Given the description of an element on the screen output the (x, y) to click on. 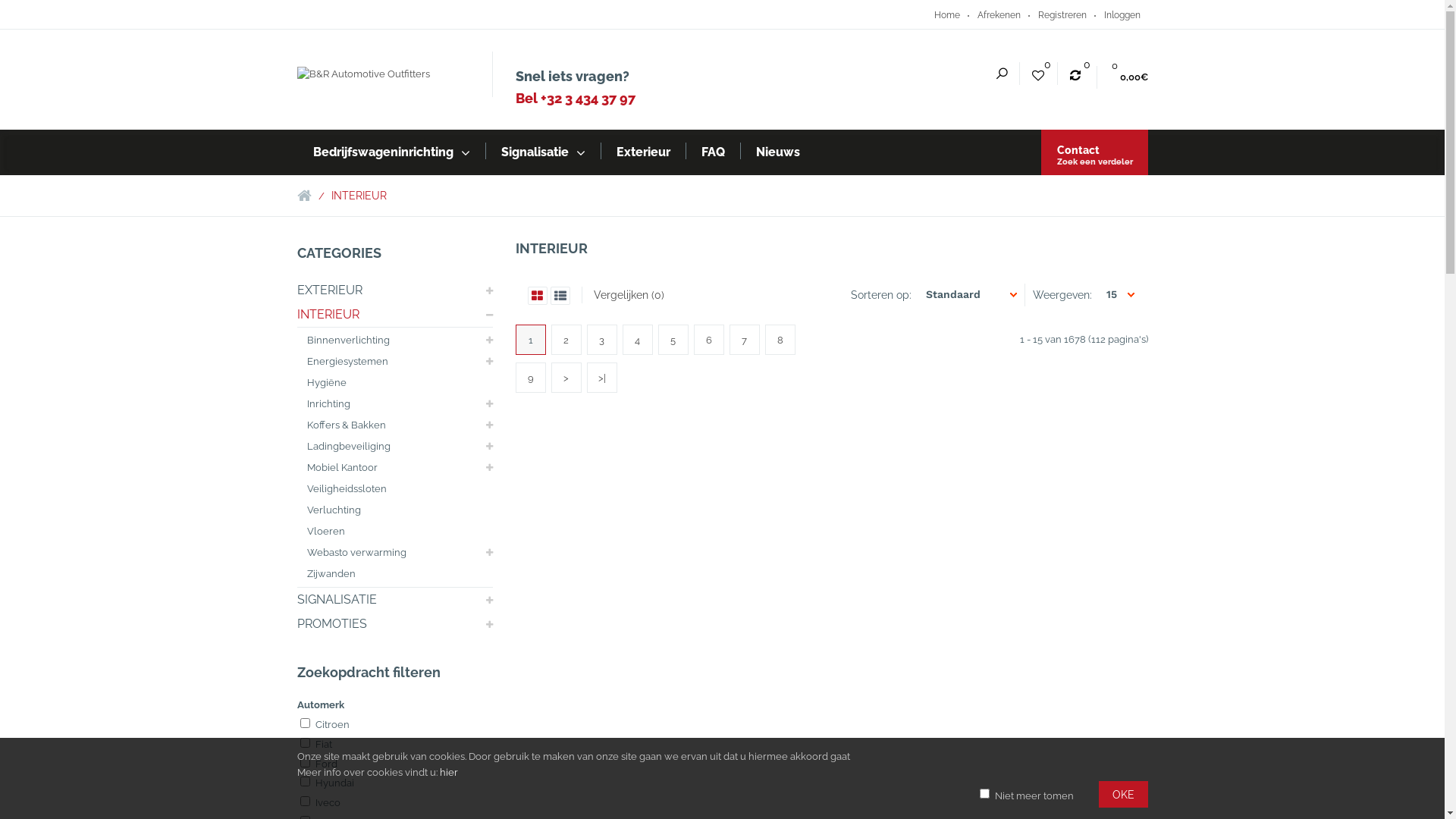
Webasto verwarming Element type: text (355, 552)
Contact
Zoek een verdeler Element type: text (1093, 152)
PROMOTIES Element type: text (332, 623)
6 Element type: text (708, 339)
Nieuws Element type: text (777, 152)
Koffers & Bakken Element type: text (345, 425)
Veiligheidssloten Element type: text (345, 488)
Exterieur Element type: text (642, 152)
Verluchting Element type: text (333, 509)
Zijwanden Element type: text (330, 573)
9 Element type: text (529, 377)
hier Element type: text (448, 772)
Inloggen Element type: text (1122, 15)
EXTERIEUR Element type: text (329, 290)
4 Element type: text (637, 339)
Bedrijfswageninrichting Element type: text (391, 152)
0 Element type: text (1036, 71)
List Element type: hover (560, 295)
Registreren Element type: text (1061, 15)
Vloeren Element type: text (325, 531)
3 Element type: text (600, 339)
Energiesystemen Element type: text (346, 361)
5 Element type: text (672, 339)
Mobiel Kantoor Element type: text (341, 467)
Inrichting Element type: text (327, 403)
Home Element type: text (947, 15)
INTERIEUR Element type: text (357, 195)
Signalisatie Element type: text (542, 152)
>| Element type: text (600, 377)
Vergelijken (0) Element type: text (628, 294)
SIGNALISATIE Element type: text (336, 599)
> Element type: text (566, 377)
Binnenverlichting Element type: text (347, 340)
FAQ Element type: text (712, 152)
Ladingbeveiliging Element type: text (347, 446)
8 Element type: text (779, 339)
7 Element type: text (743, 339)
0 Element type: text (1075, 71)
Grid Element type: hover (537, 295)
Afrekenen Element type: text (997, 15)
B&R Automotive Outfitters Element type: hover (363, 74)
INTERIEUR Element type: text (328, 314)
2 Element type: text (566, 339)
